Given the description of an element on the screen output the (x, y) to click on. 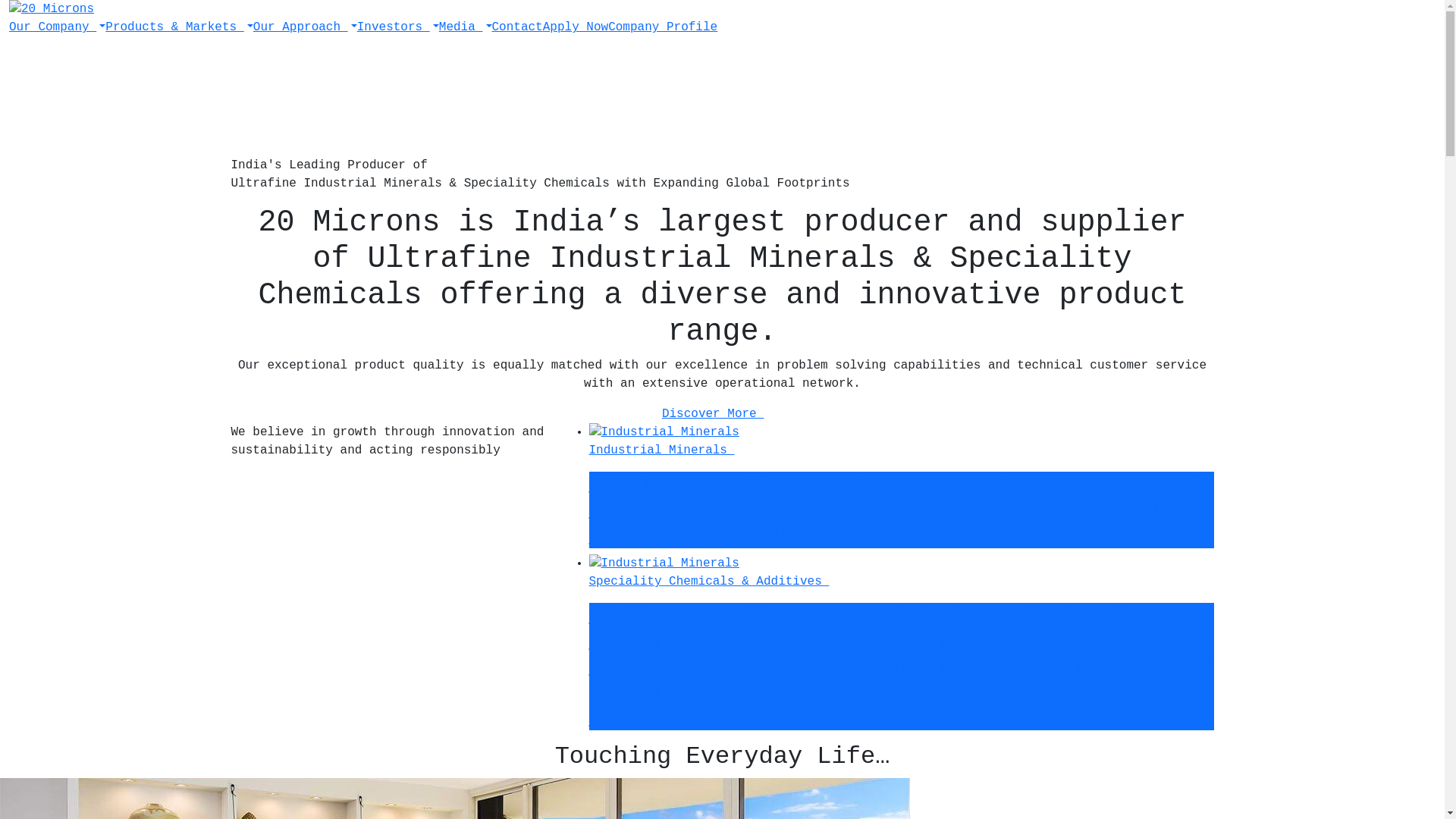
Contact Element type: text (516, 27)
Investors Element type: text (398, 27)
Our Approach Element type: text (305, 27)
Company Profile Element type: text (662, 27)
Products & Markets Element type: text (179, 27)
Media Element type: text (465, 27)
Our Company Element type: text (52, 27)
Apply Now Element type: text (575, 27)
Discover More Element type: text (722, 413)
